Given the description of an element on the screen output the (x, y) to click on. 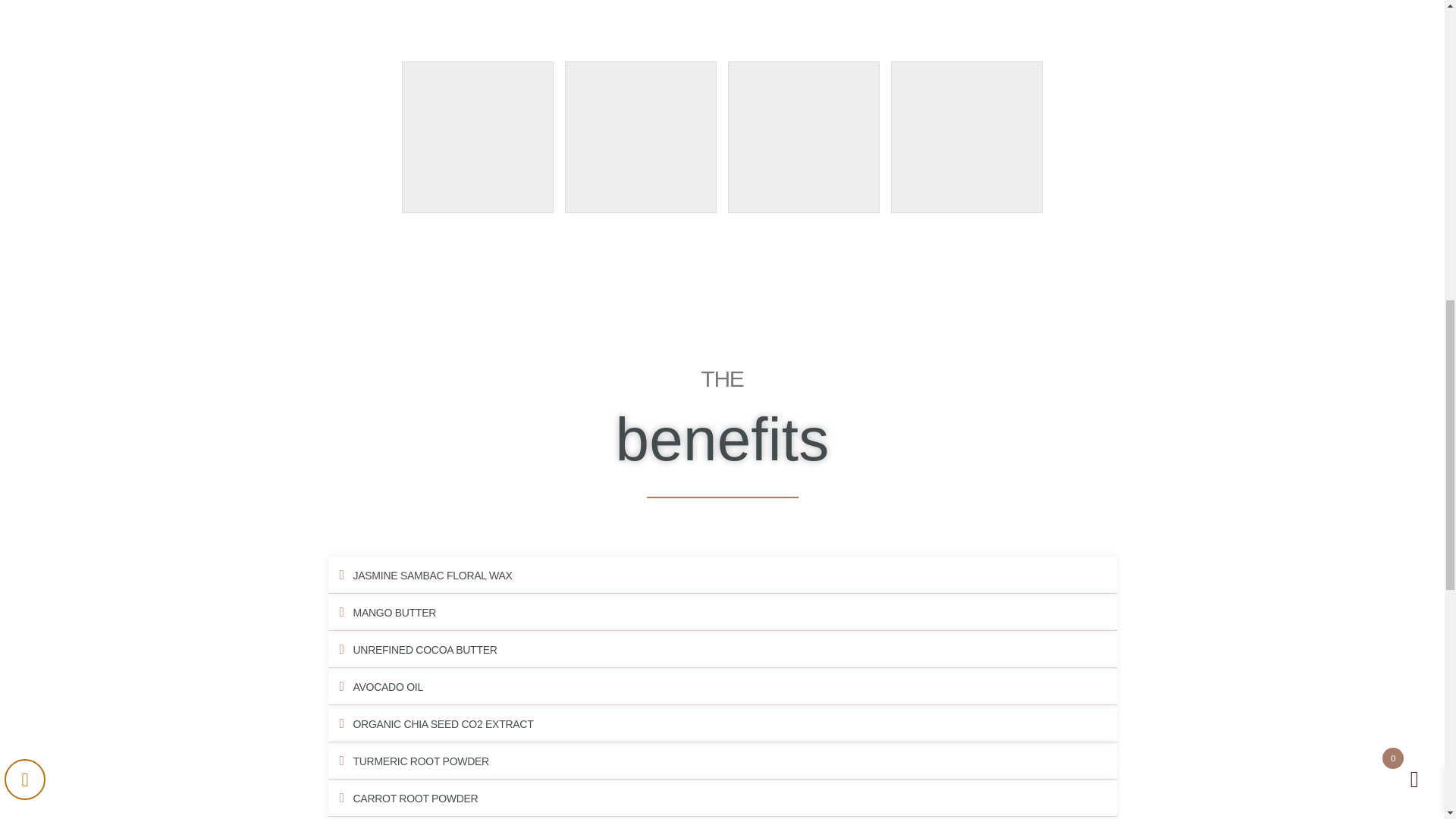
UNREFINED COCOA BUTTER (425, 649)
MANGO BUTTER (394, 612)
AVOCADO OIL (388, 686)
JASMINE SAMBAC FLORAL WAX (432, 575)
